Given the description of an element on the screen output the (x, y) to click on. 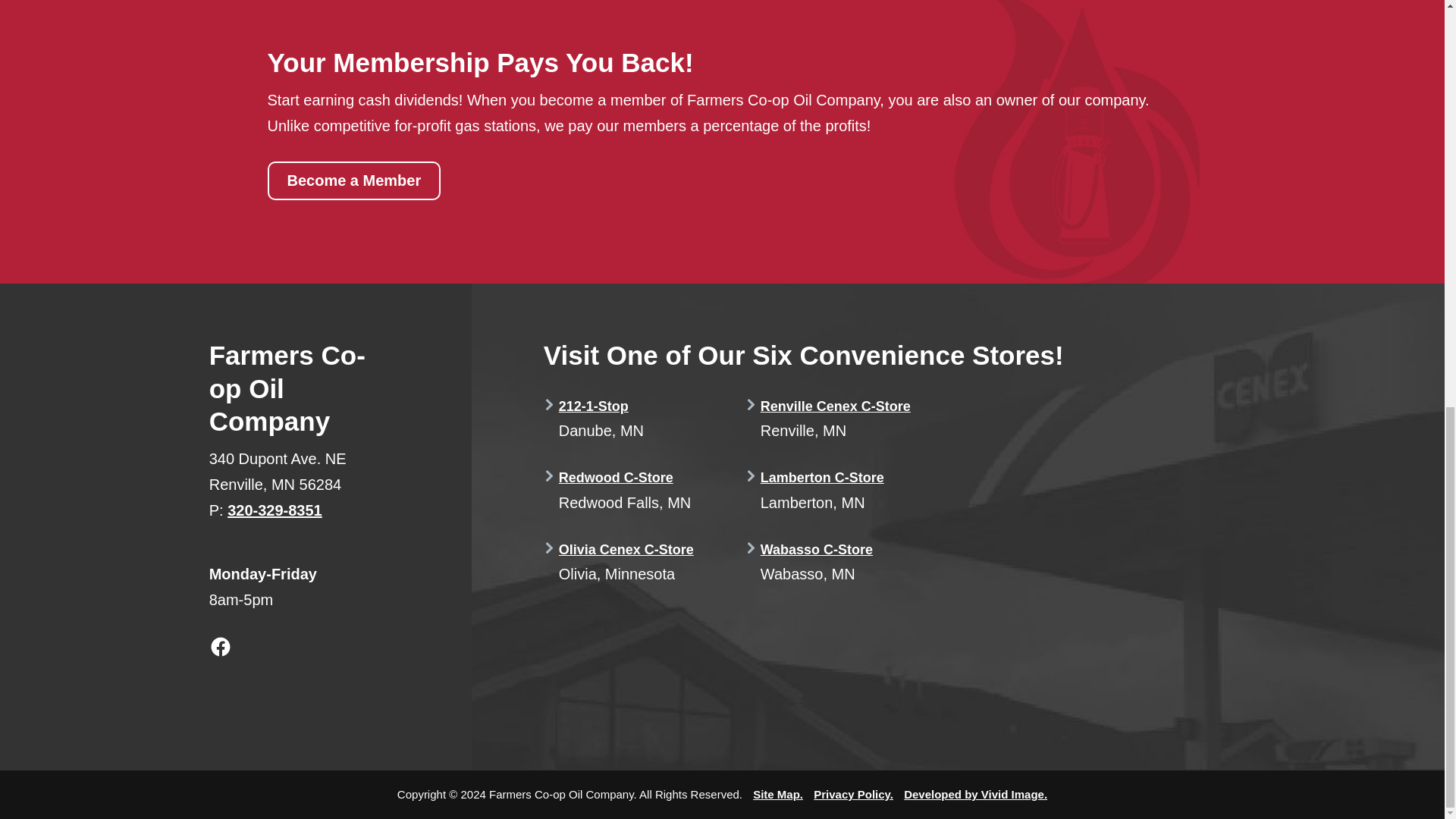
Become a Member (353, 180)
212-1-Stop (593, 406)
Redwood C-Store (615, 477)
Facebook (220, 646)
320-329-8351 (274, 510)
